Given the description of an element on the screen output the (x, y) to click on. 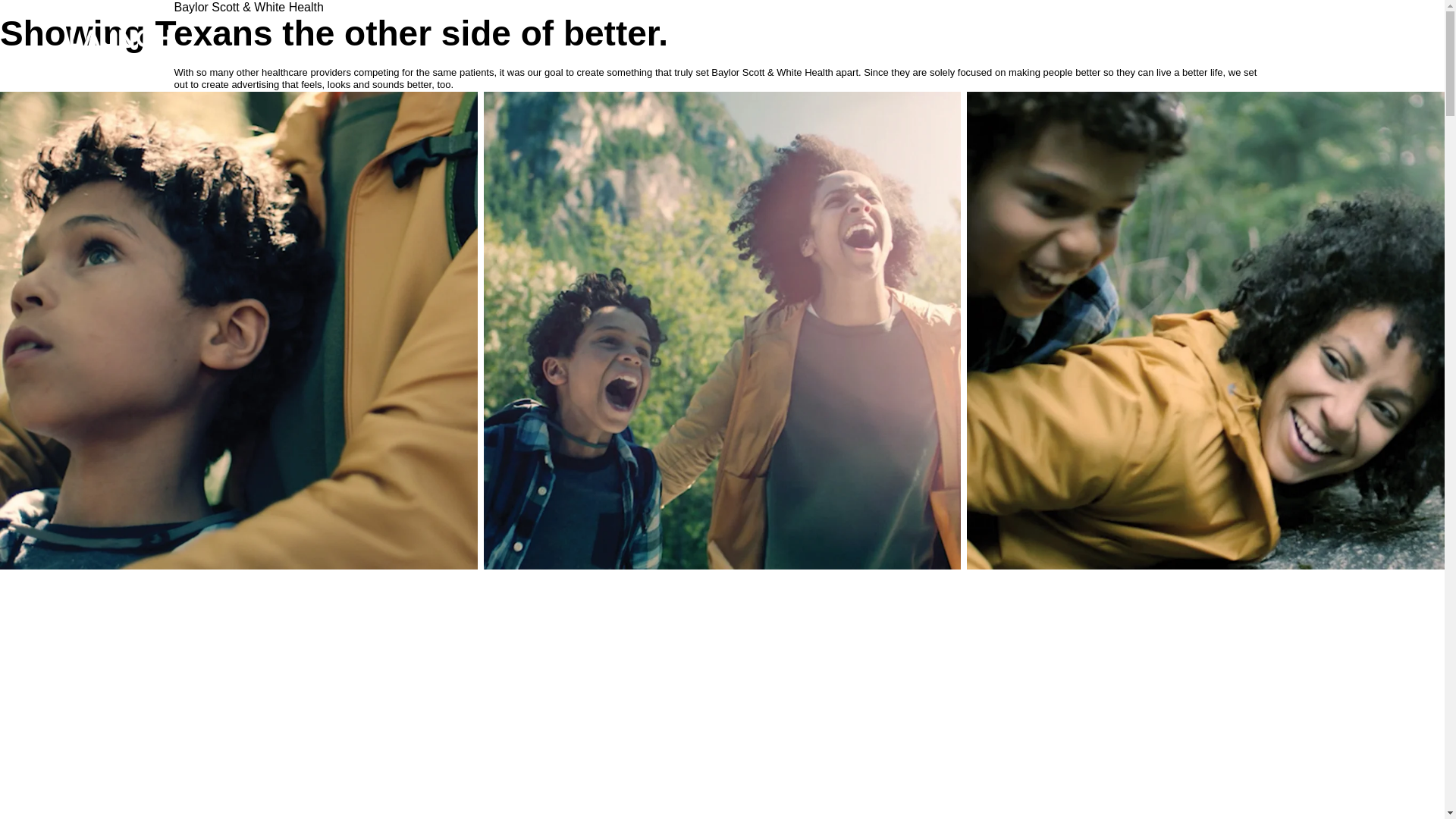
Launch Agency (100, 65)
